Given the description of an element on the screen output the (x, y) to click on. 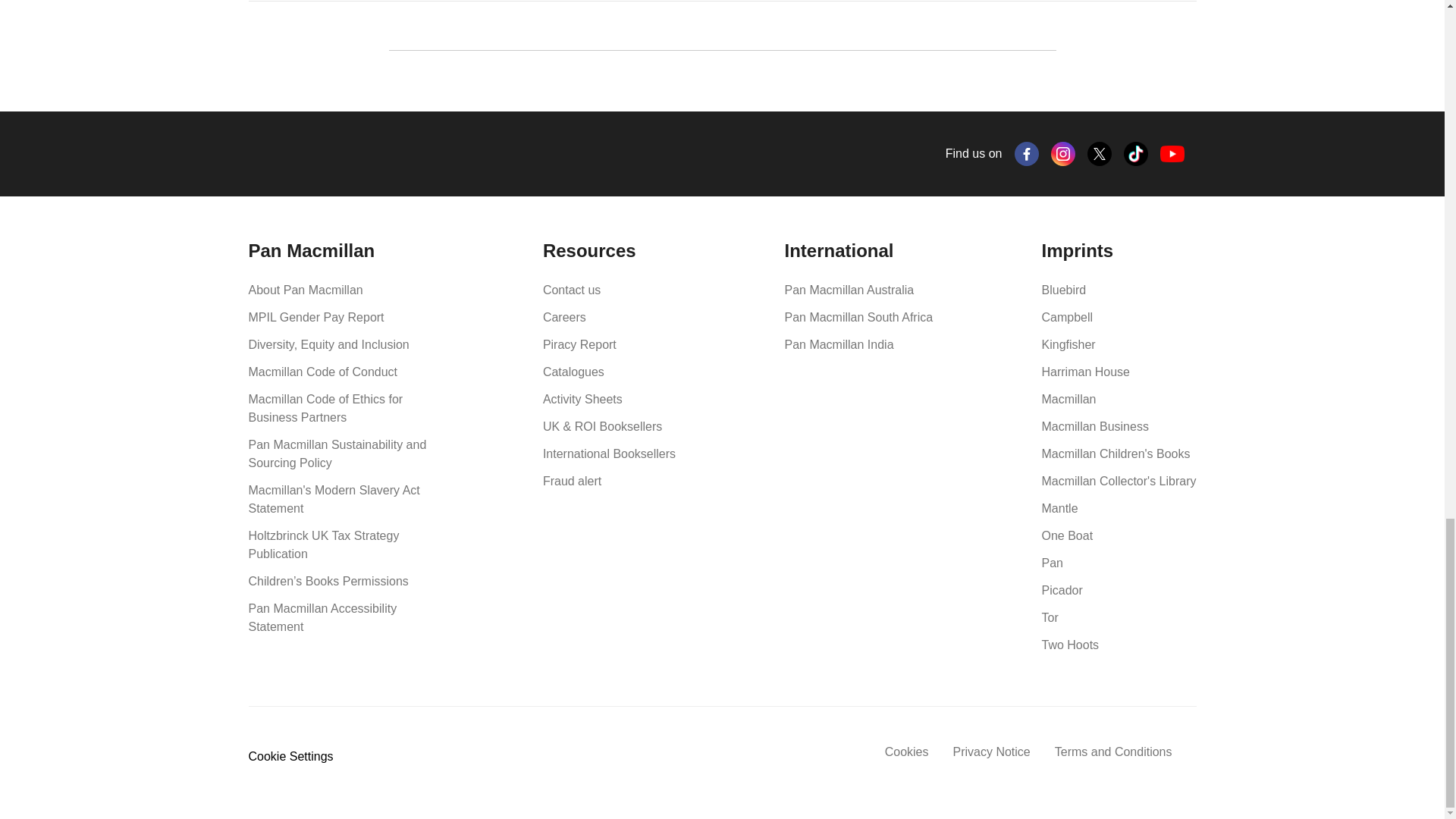
Facebook (1026, 153)
YouTube (1172, 153)
TikTok (1136, 153)
Instagram (1063, 153)
